Given the description of an element on the screen output the (x, y) to click on. 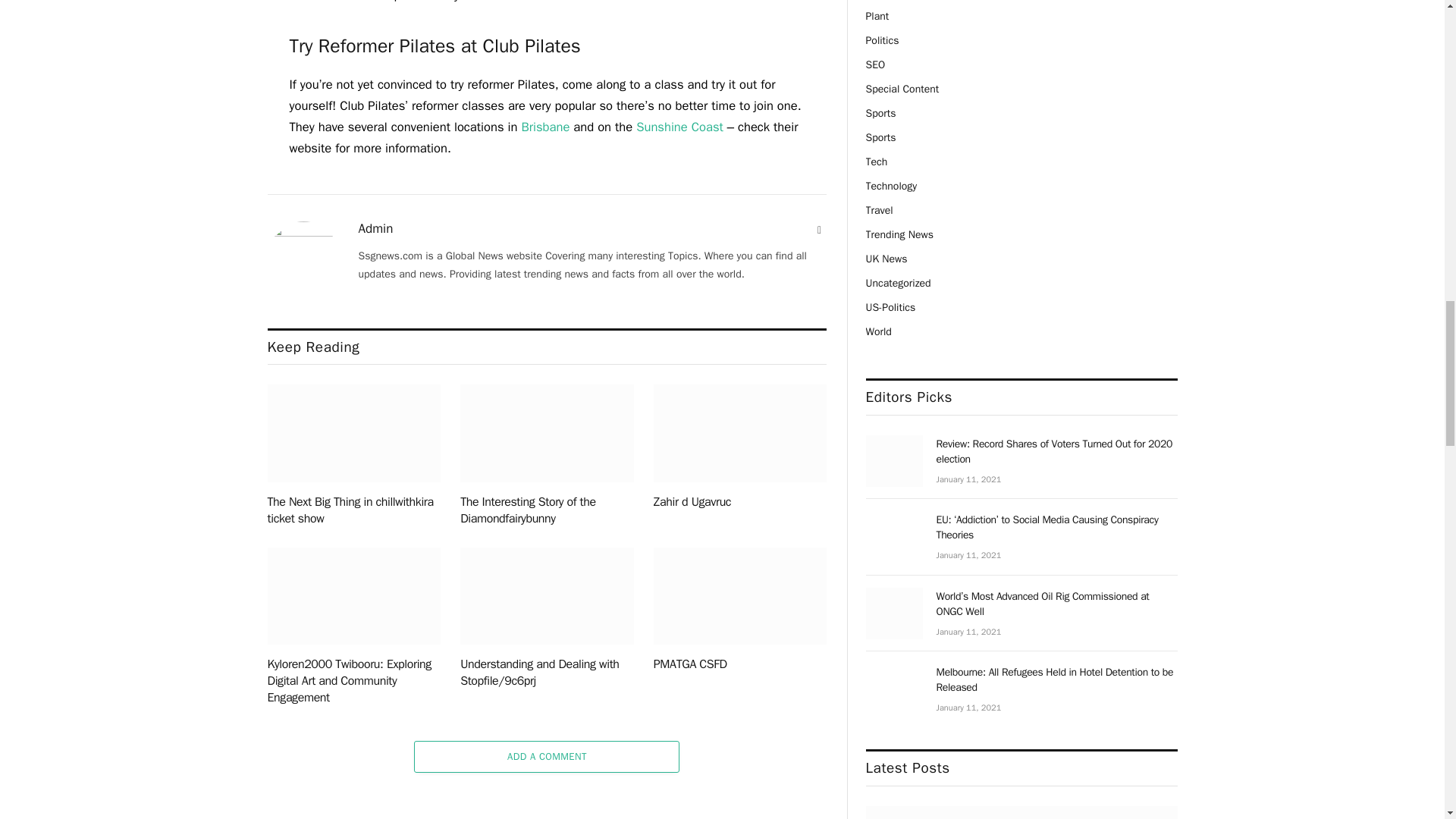
Website (818, 230)
Posts by Admin (375, 228)
The Next Big Thing in chillwithkira ticket show (353, 433)
The Interesting Story of the Diamondfairybunny (546, 433)
